Given the description of an element on the screen output the (x, y) to click on. 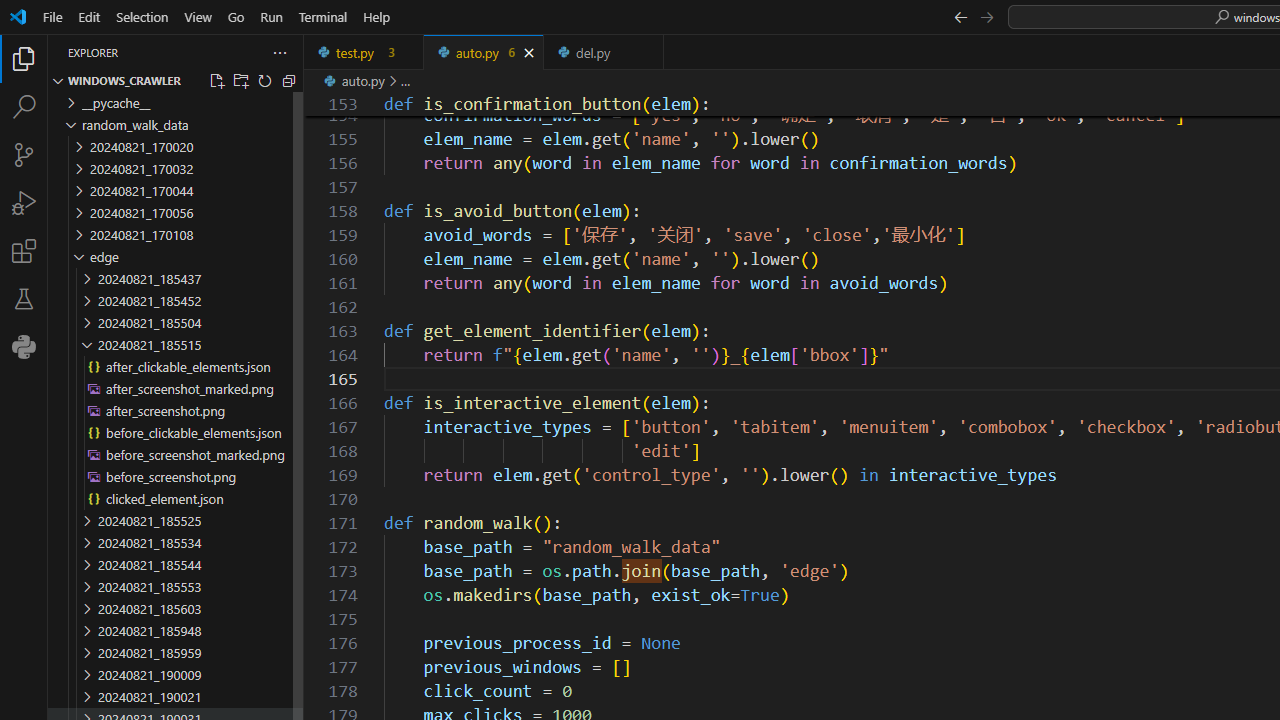
Go Forward (Alt+RightArrow) (986, 16)
